Given the description of an element on the screen output the (x, y) to click on. 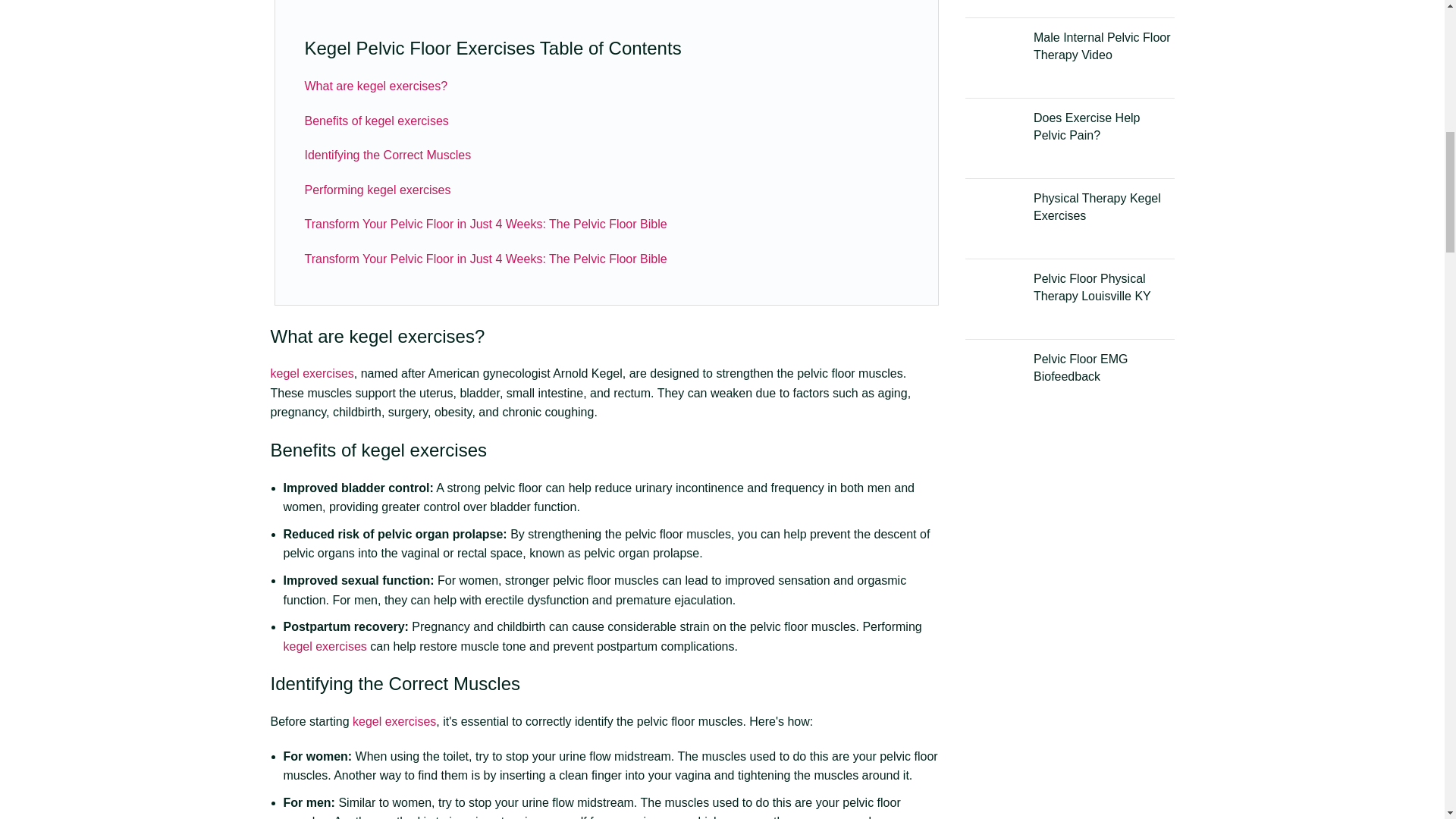
kegel exercises (423, 449)
kegel exercises (324, 645)
kegel exercises (311, 373)
kegel exercises (411, 335)
kegel exercises (393, 721)
Performing kegel exercises (377, 189)
Benefits of kegel exercises (376, 120)
What are kegel exercises? (376, 85)
